Given the description of an element on the screen output the (x, y) to click on. 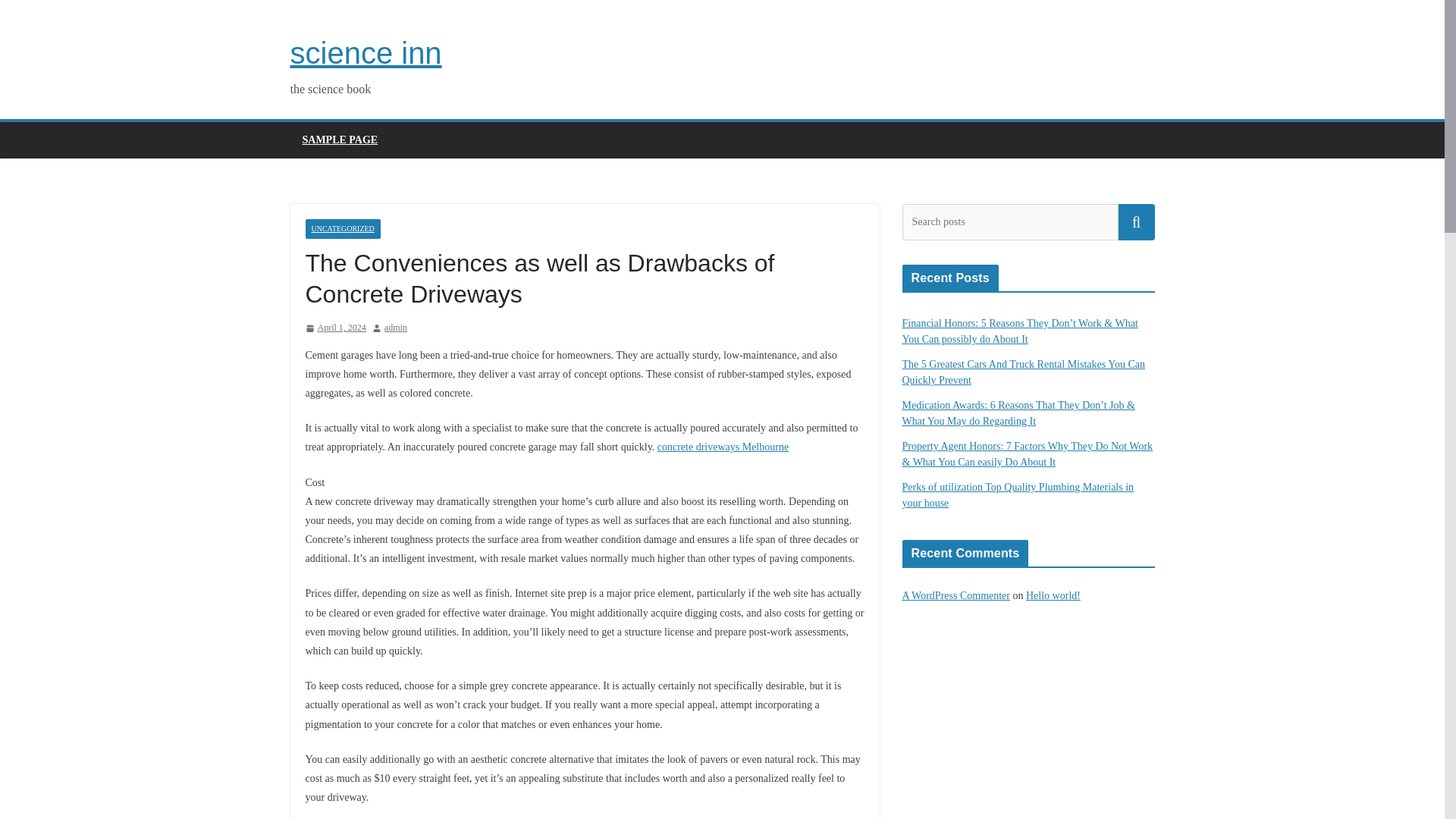
April 1, 2024 (334, 328)
admin (395, 328)
11:41 pm (334, 328)
UNCATEGORIZED (342, 229)
SAMPLE PAGE (339, 139)
A WordPress Commenter (956, 595)
Search (1136, 221)
concrete driveways Melbourne (723, 446)
science inn (365, 52)
Hello world! (1053, 595)
admin (395, 328)
science inn (365, 52)
